Given the description of an element on the screen output the (x, y) to click on. 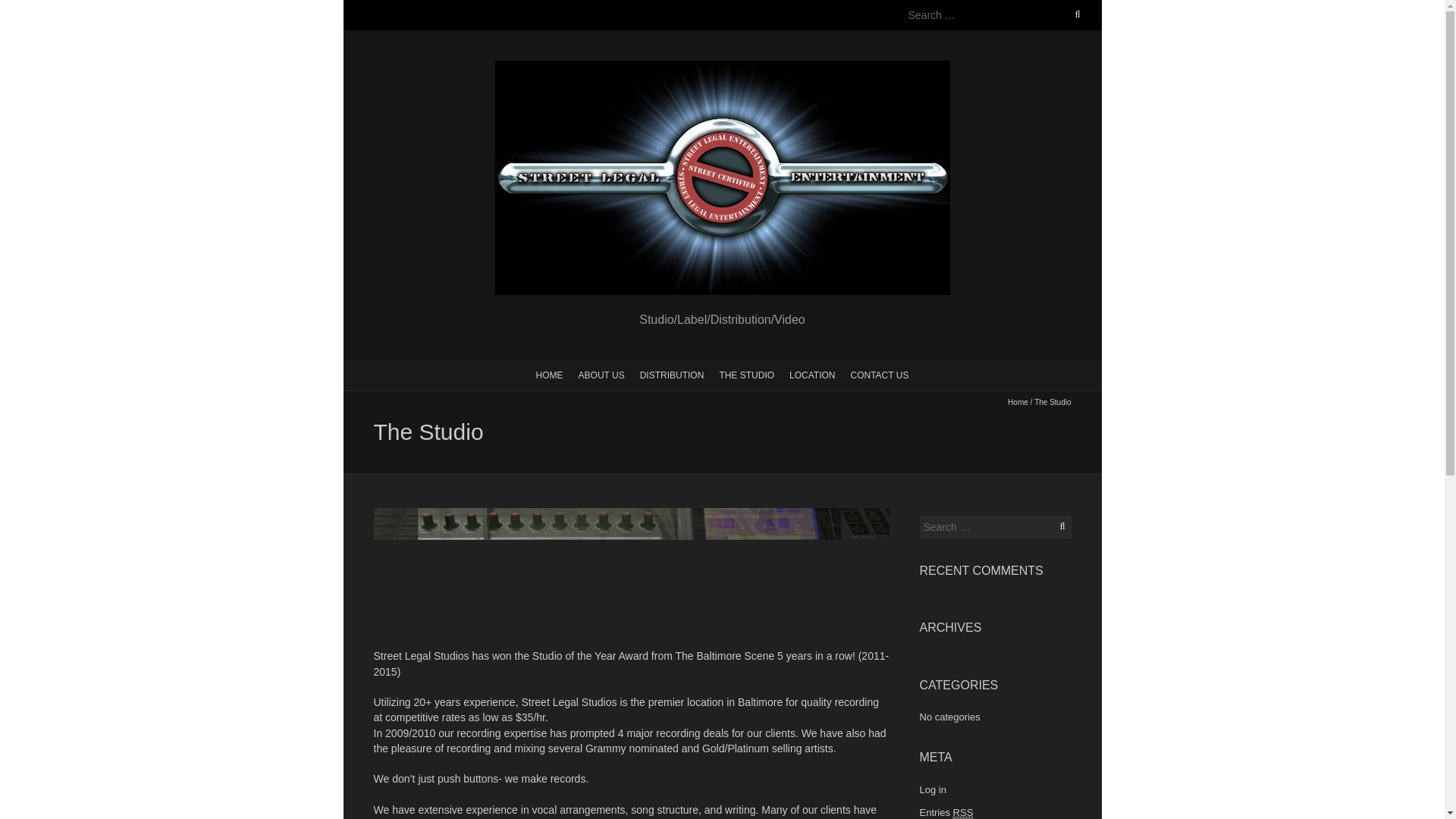
HOME (549, 374)
Street Legal Entertainment (722, 68)
THE STUDIO (746, 374)
DISTRIBUTION (671, 374)
Search (28, 9)
Entries RSS (945, 812)
CONTACT US (880, 374)
Log in (931, 789)
Home (1017, 402)
ABOUT US (600, 374)
Really Simple Syndication (963, 812)
LOCATION (812, 374)
